Given the description of an element on the screen output the (x, y) to click on. 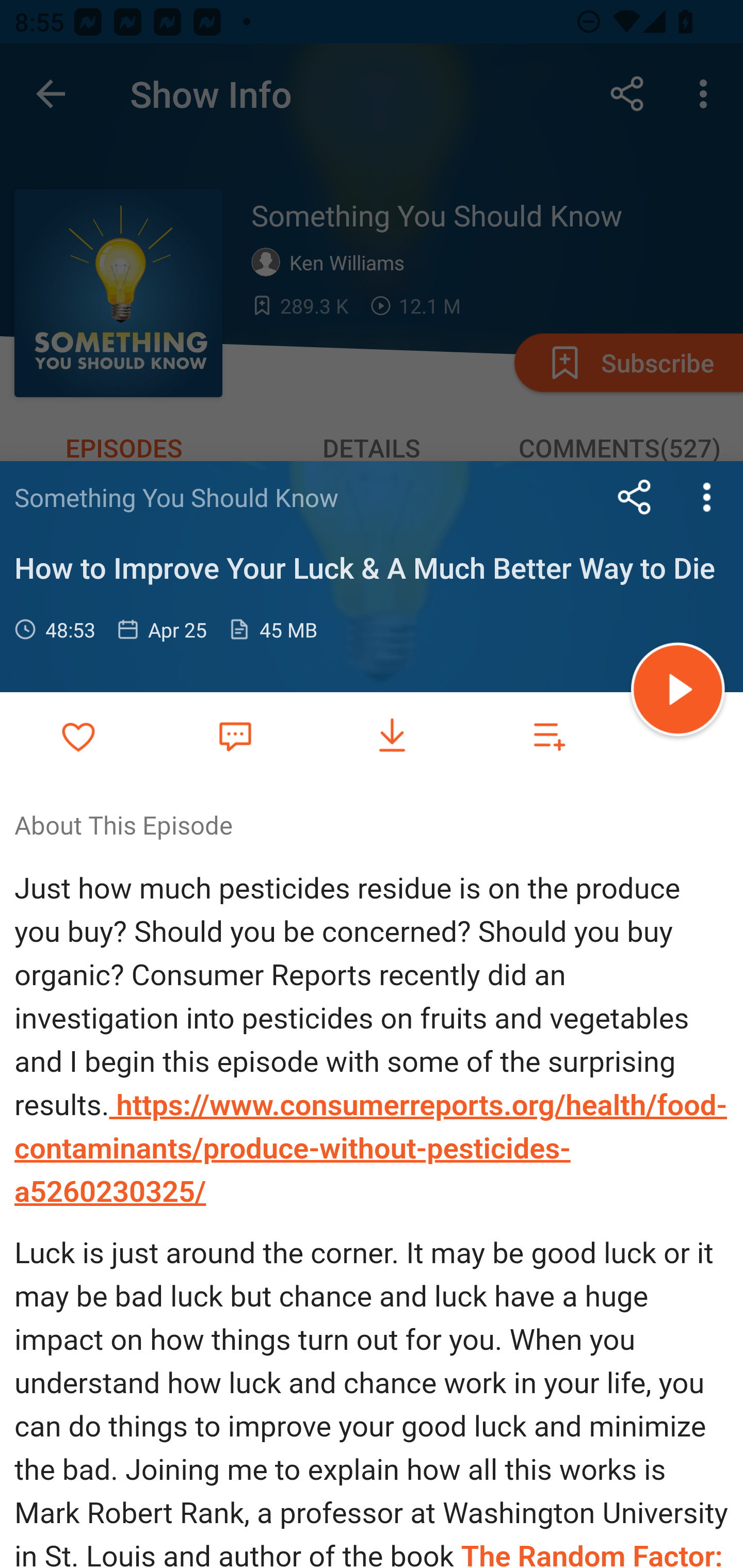
Share (634, 496)
more options (706, 496)
Play (677, 692)
Favorite (234, 735)
Add to Favorites (78, 735)
Download (391, 735)
Add to playlist (548, 735)
